Given the description of an element on the screen output the (x, y) to click on. 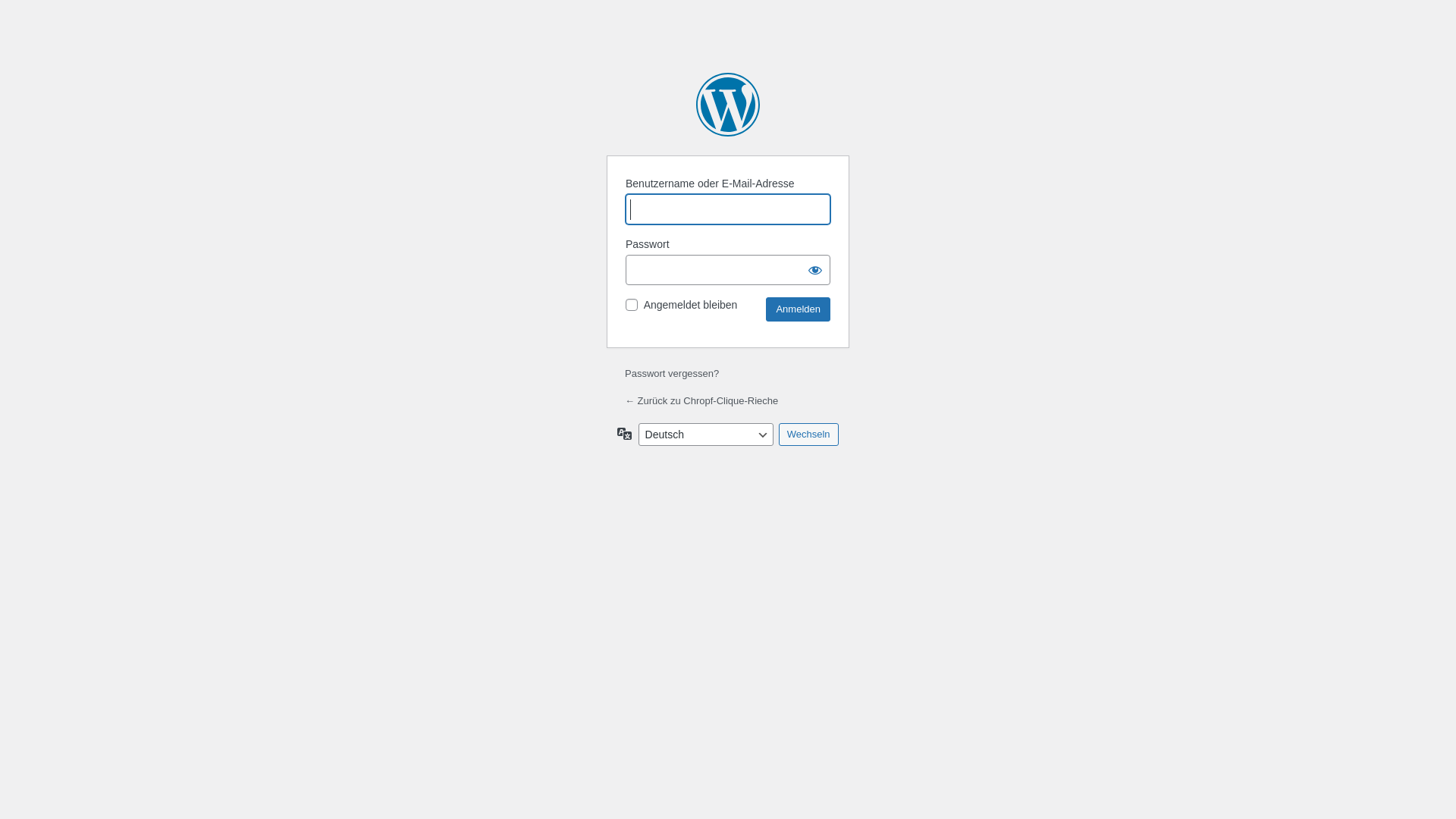
Wechseln Element type: text (808, 434)
Powered by WordPress Element type: text (727, 104)
Anmelden Element type: text (797, 309)
Passwort vergessen? Element type: text (671, 373)
